Given the description of an element on the screen output the (x, y) to click on. 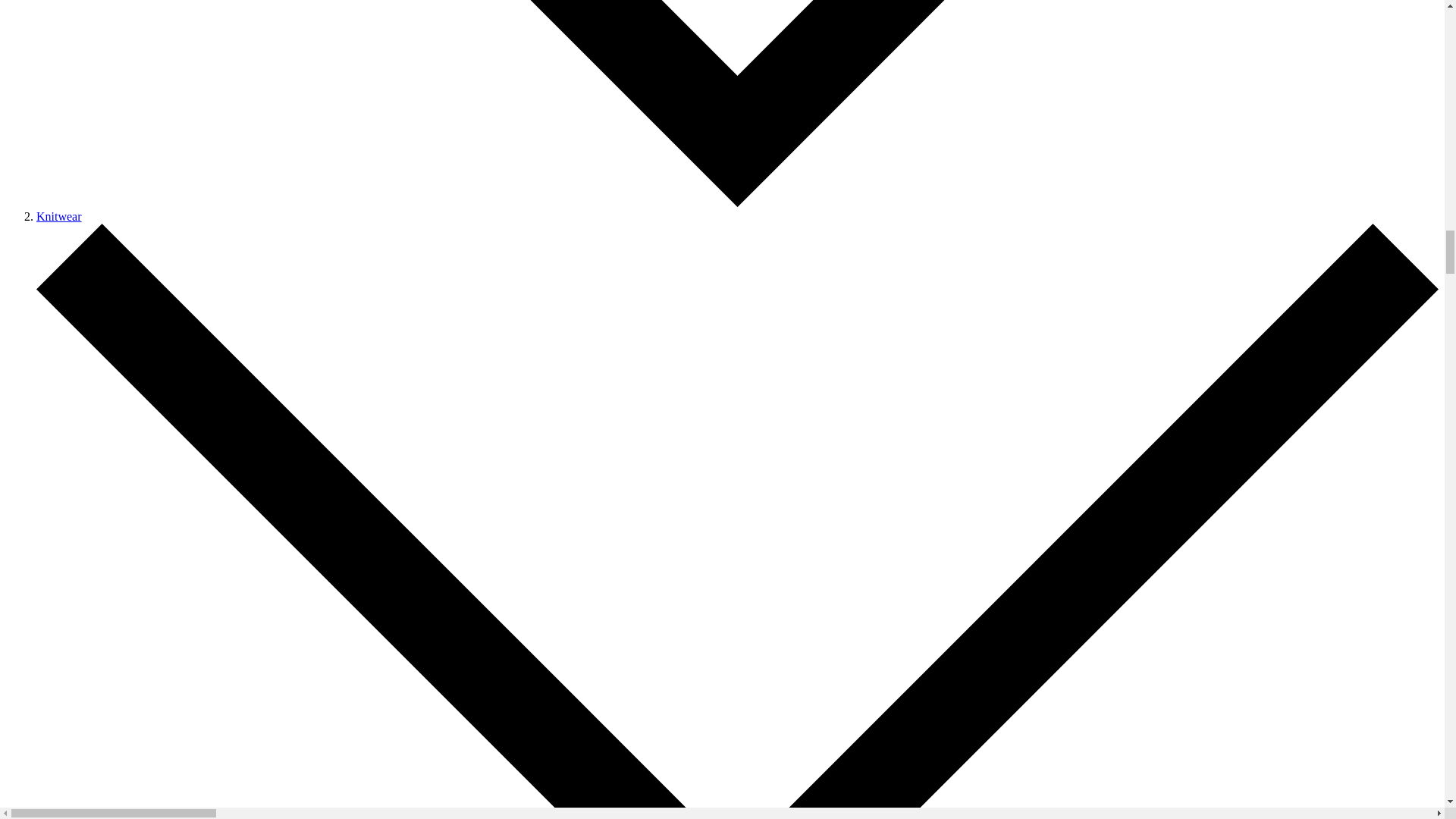
Knitwear (58, 215)
